Given the description of an element on the screen output the (x, y) to click on. 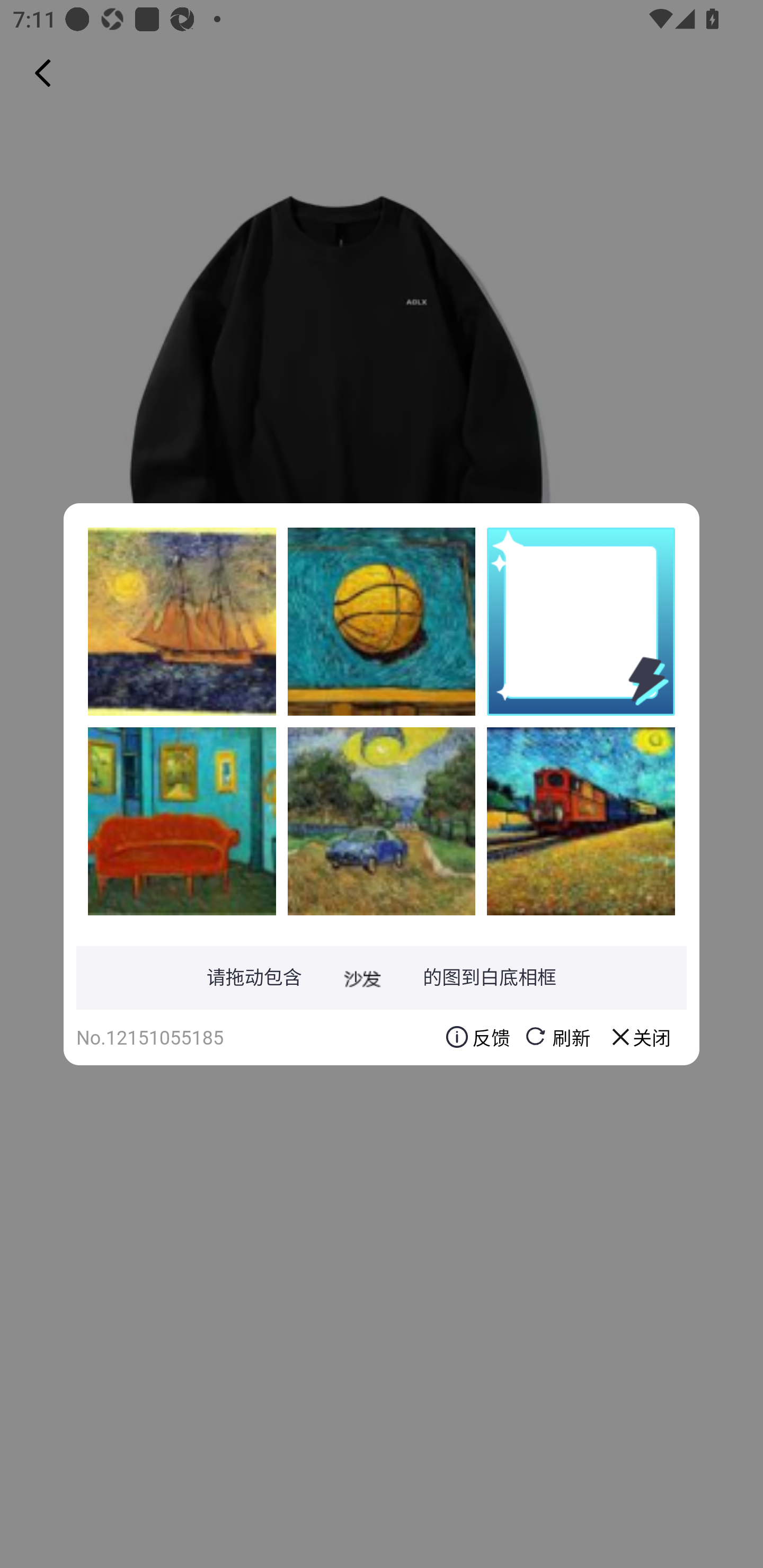
Dxw (381, 621)
